Given the description of an element on the screen output the (x, y) to click on. 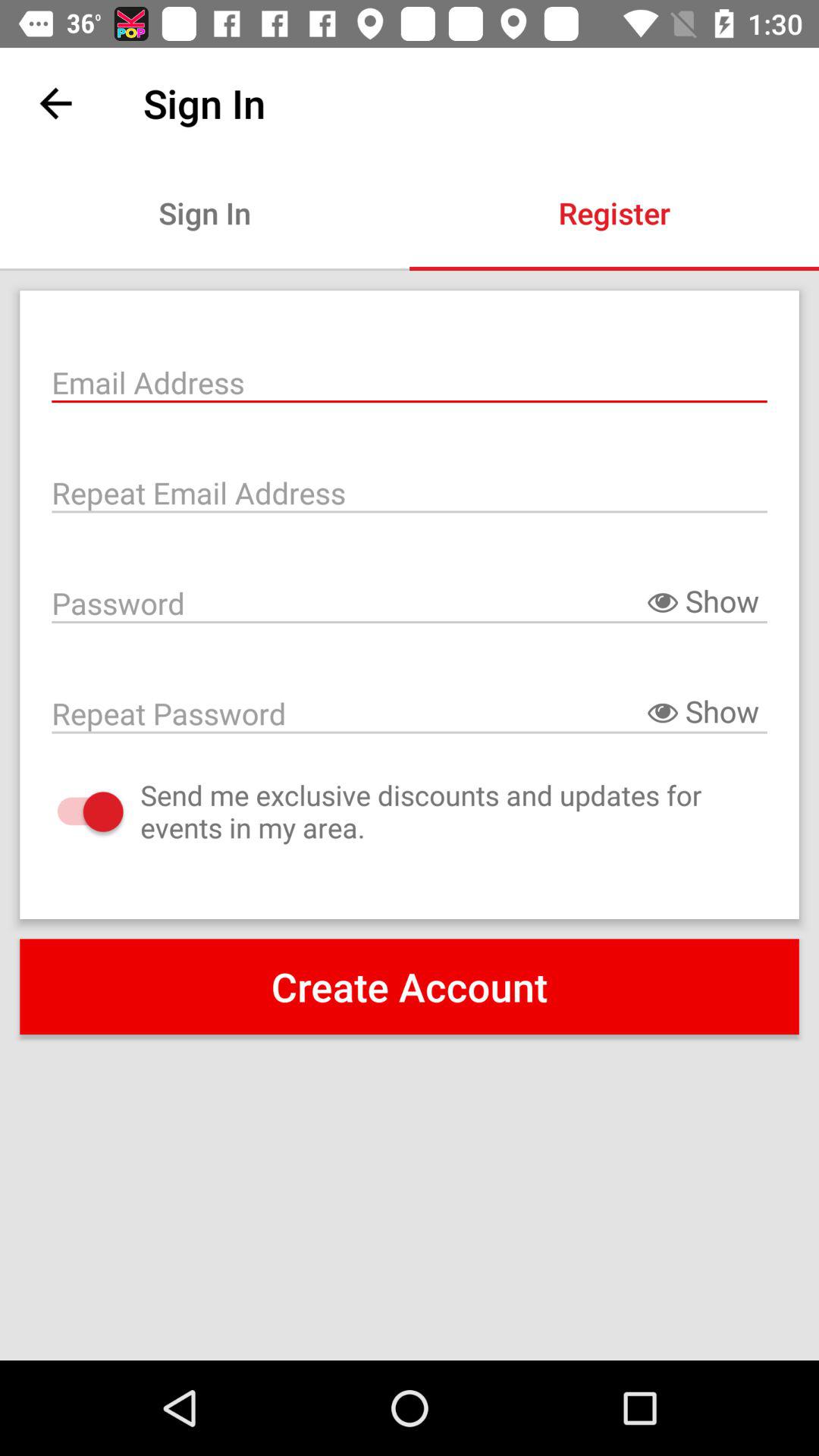
click the icon on the left (74, 811)
